Given the description of an element on the screen output the (x, y) to click on. 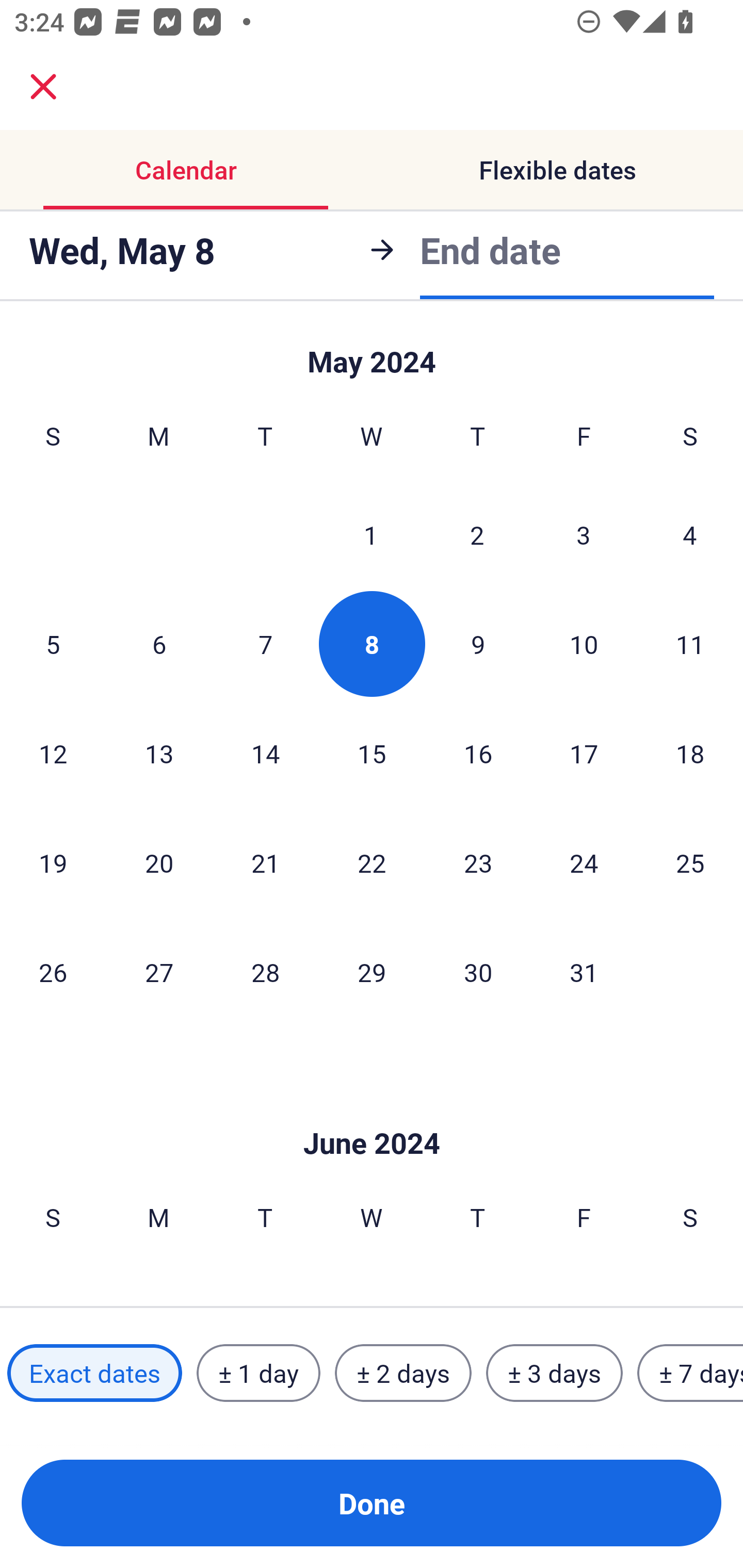
close. (43, 86)
Flexible dates (557, 170)
End date (489, 247)
Skip to Done (371, 352)
1 Wednesday, May 1, 2024 (371, 534)
2 Thursday, May 2, 2024 (477, 534)
3 Friday, May 3, 2024 (583, 534)
4 Saturday, May 4, 2024 (689, 534)
5 Sunday, May 5, 2024 (53, 643)
6 Monday, May 6, 2024 (159, 643)
7 Tuesday, May 7, 2024 (265, 643)
9 Thursday, May 9, 2024 (477, 643)
10 Friday, May 10, 2024 (584, 643)
11 Saturday, May 11, 2024 (690, 643)
12 Sunday, May 12, 2024 (53, 752)
13 Monday, May 13, 2024 (159, 752)
14 Tuesday, May 14, 2024 (265, 752)
15 Wednesday, May 15, 2024 (371, 752)
16 Thursday, May 16, 2024 (477, 752)
17 Friday, May 17, 2024 (584, 752)
18 Saturday, May 18, 2024 (690, 752)
19 Sunday, May 19, 2024 (53, 862)
20 Monday, May 20, 2024 (159, 862)
21 Tuesday, May 21, 2024 (265, 862)
22 Wednesday, May 22, 2024 (371, 862)
23 Thursday, May 23, 2024 (477, 862)
24 Friday, May 24, 2024 (584, 862)
25 Saturday, May 25, 2024 (690, 862)
26 Sunday, May 26, 2024 (53, 971)
27 Monday, May 27, 2024 (159, 971)
28 Tuesday, May 28, 2024 (265, 971)
29 Wednesday, May 29, 2024 (371, 971)
30 Thursday, May 30, 2024 (477, 971)
31 Friday, May 31, 2024 (584, 971)
Skip to Done (371, 1112)
Exact dates (94, 1372)
± 1 day (258, 1372)
± 2 days (403, 1372)
± 3 days (553, 1372)
± 7 days (690, 1372)
Done (371, 1502)
